Given the description of an element on the screen output the (x, y) to click on. 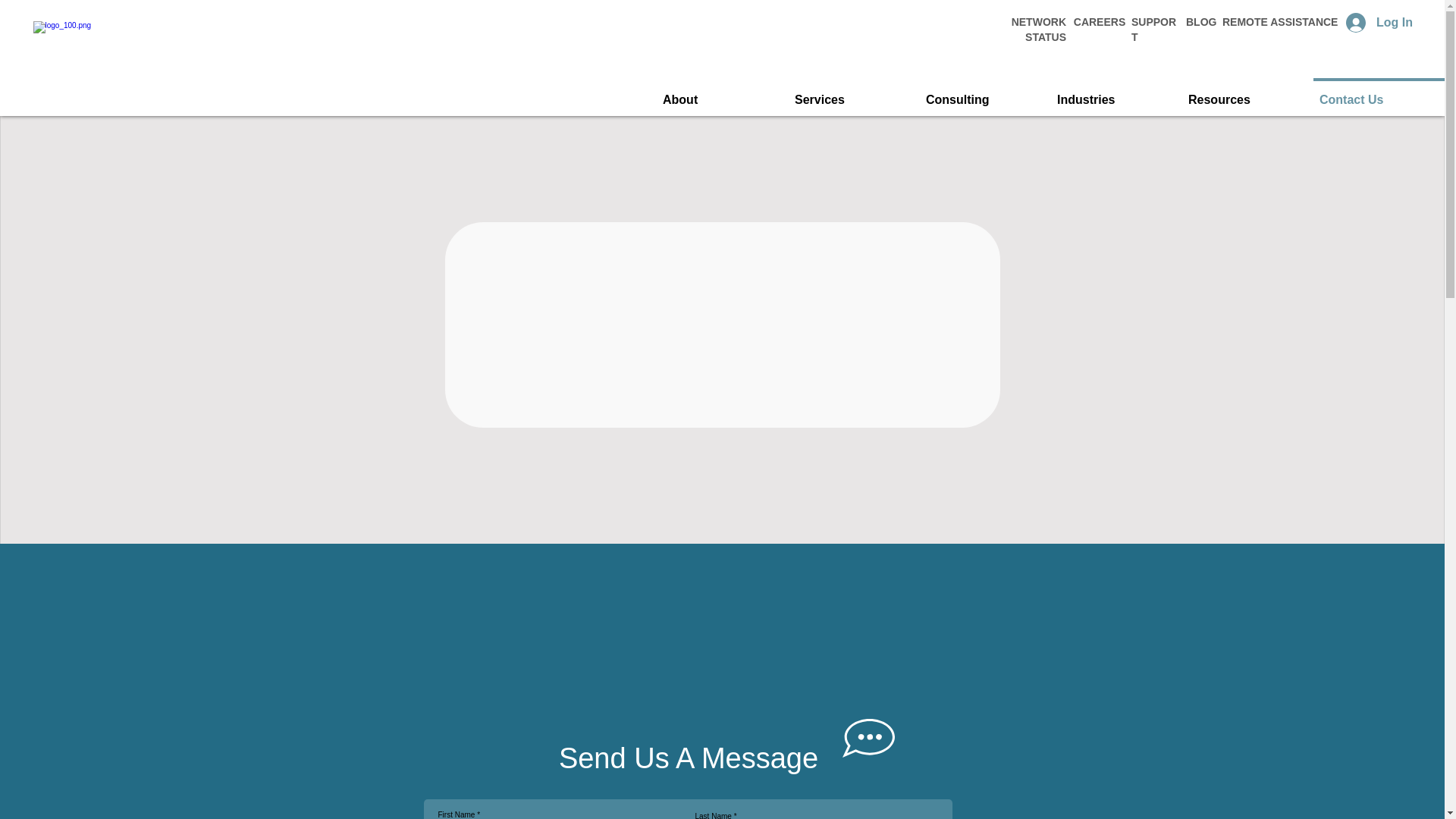
BLOG (1200, 21)
SUPPORT (1153, 29)
Log In (1379, 22)
NETWORK STATUS (1038, 29)
Services (854, 92)
About (722, 92)
REMOTE ASSISTANCE (1280, 21)
CAREERS (1099, 21)
Industries (1116, 92)
Consulting (985, 92)
